Given the description of an element on the screen output the (x, y) to click on. 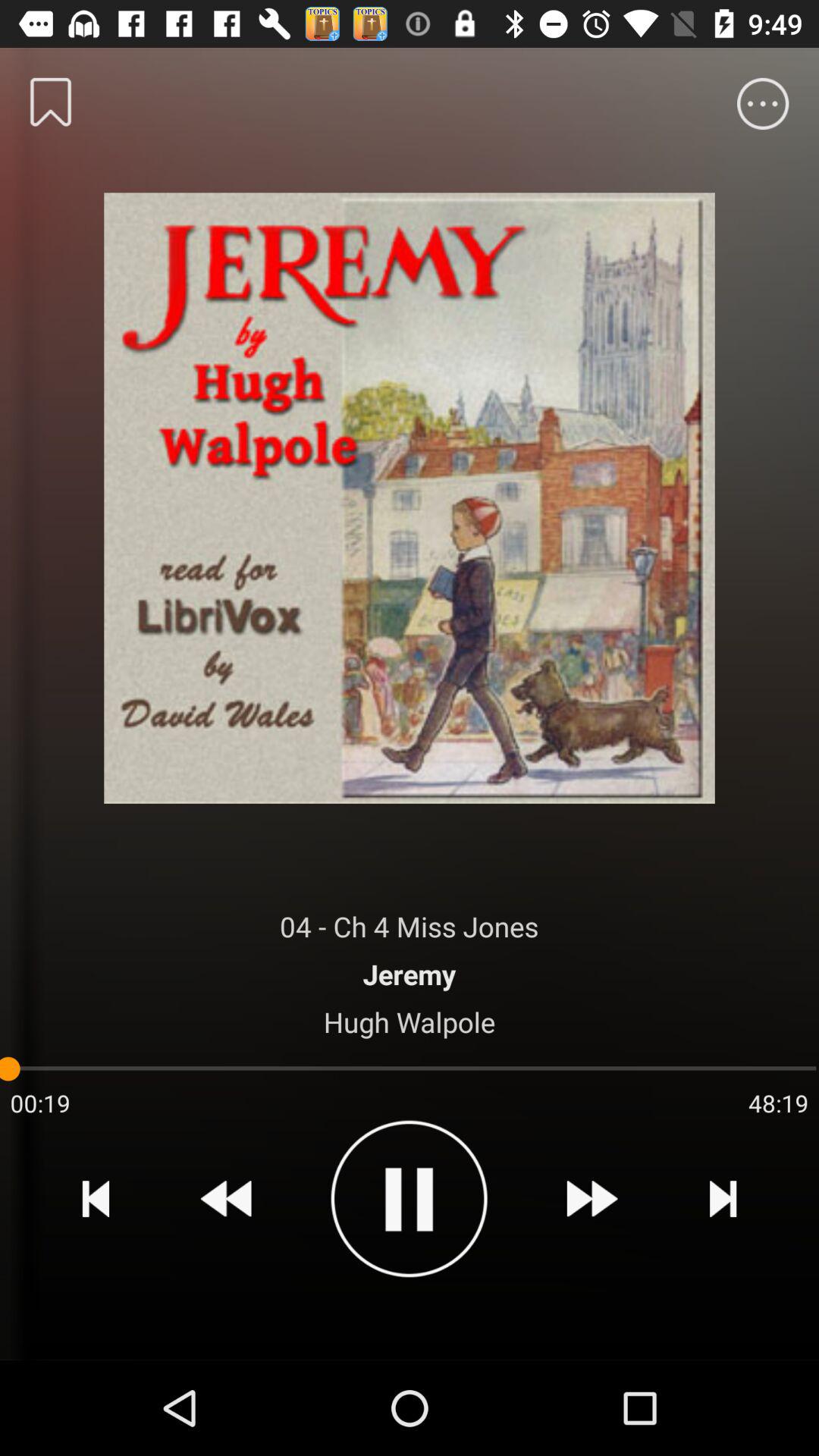
tap item above 04 ch 4 icon (409, 492)
